Given the description of an element on the screen output the (x, y) to click on. 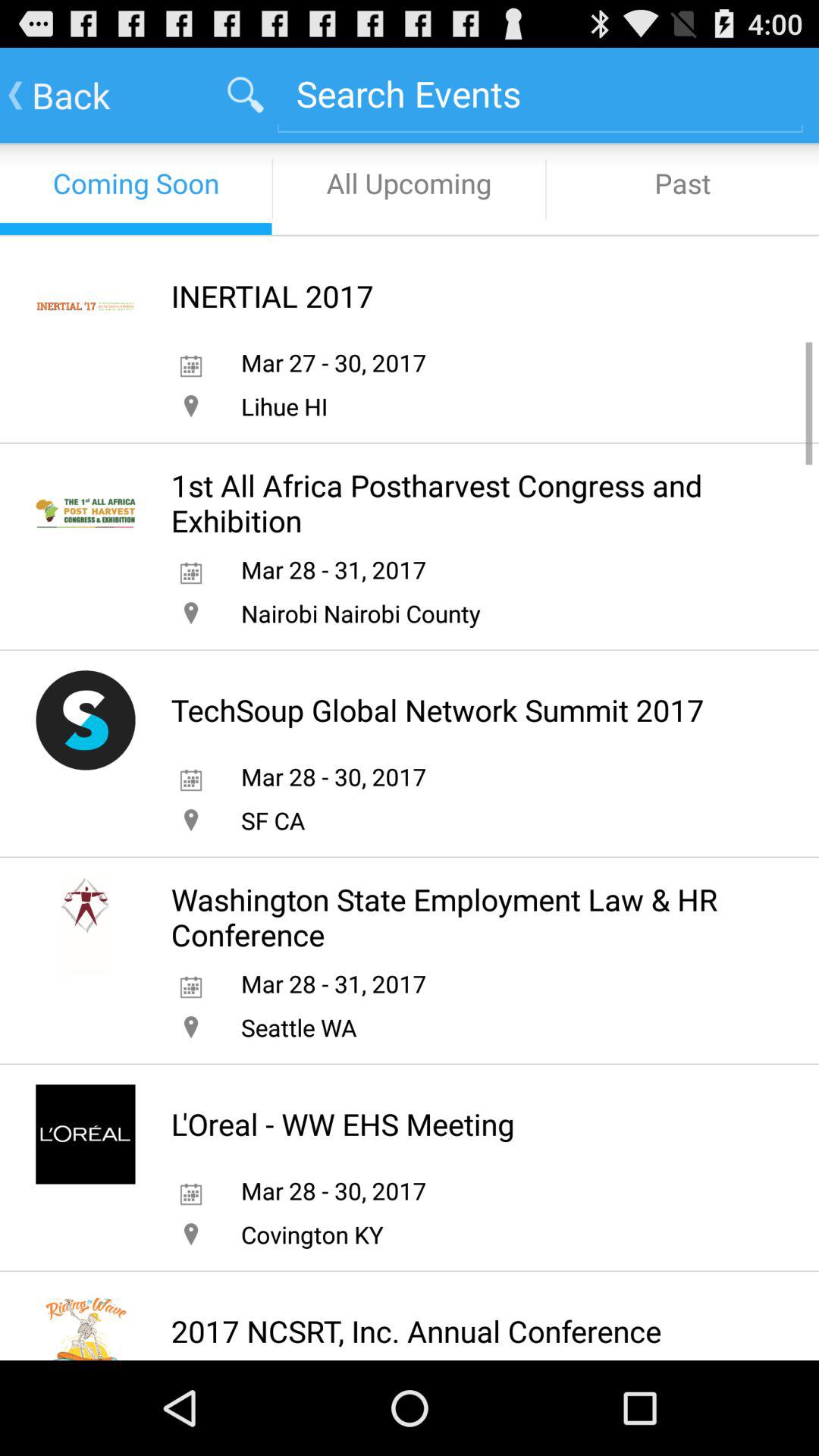
scroll to 2017 ncsrt inc (416, 1330)
